Given the description of an element on the screen output the (x, y) to click on. 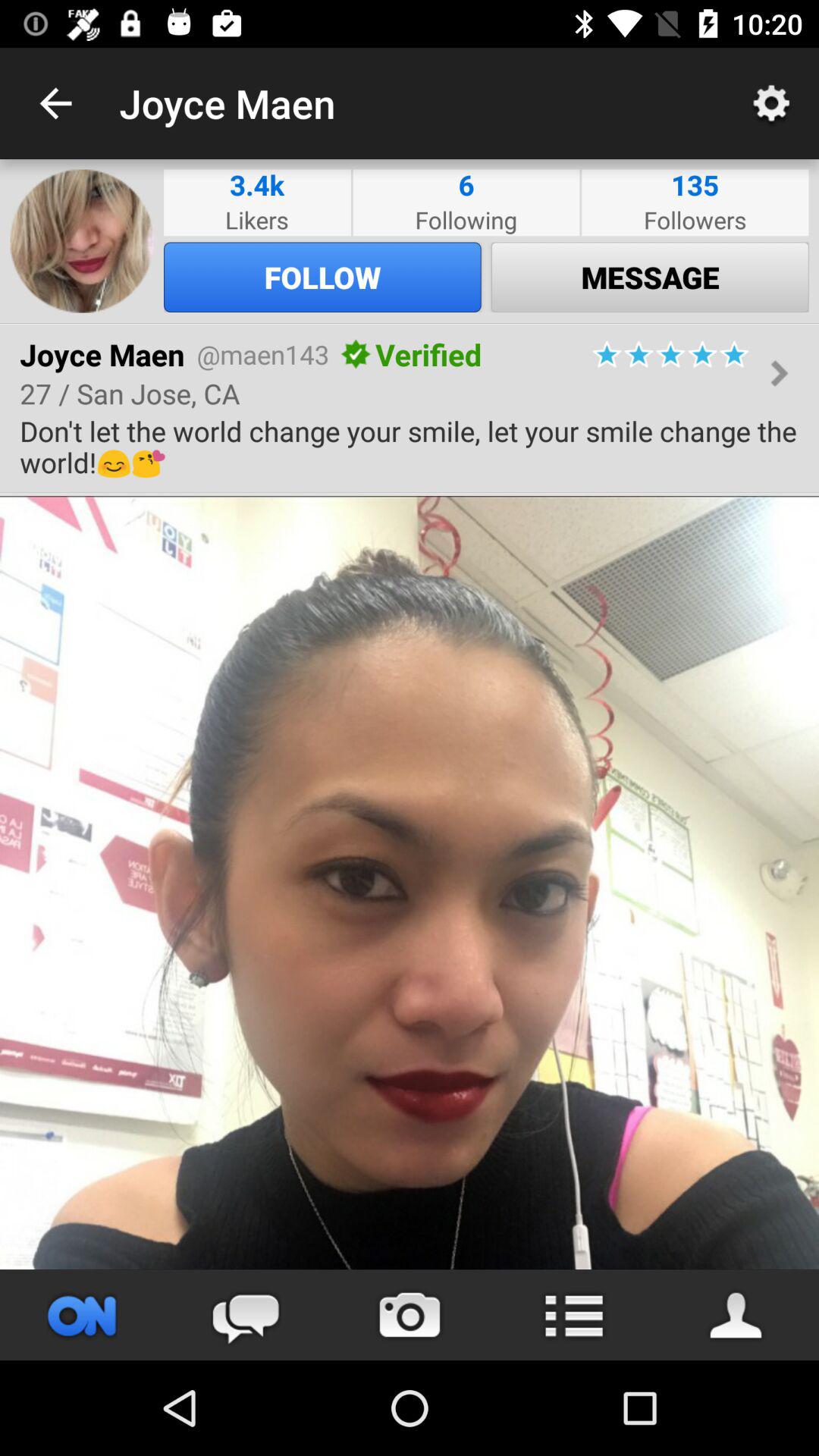
view profile (737, 1315)
